Given the description of an element on the screen output the (x, y) to click on. 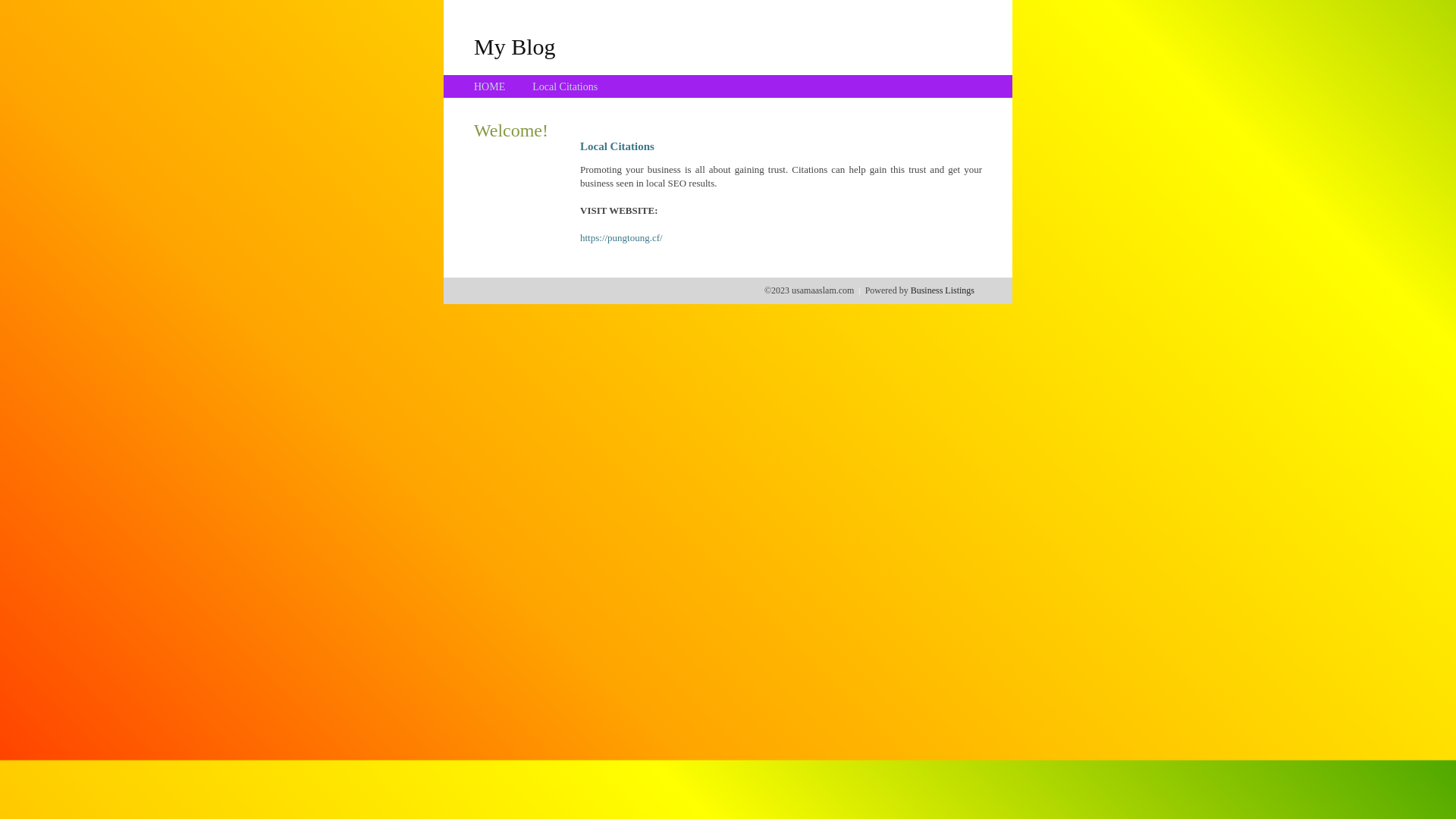
Local Citations Element type: text (564, 86)
My Blog Element type: text (514, 46)
HOME Element type: text (489, 86)
Business Listings Element type: text (942, 290)
https://pungtoung.cf/ Element type: text (621, 237)
